Given the description of an element on the screen output the (x, y) to click on. 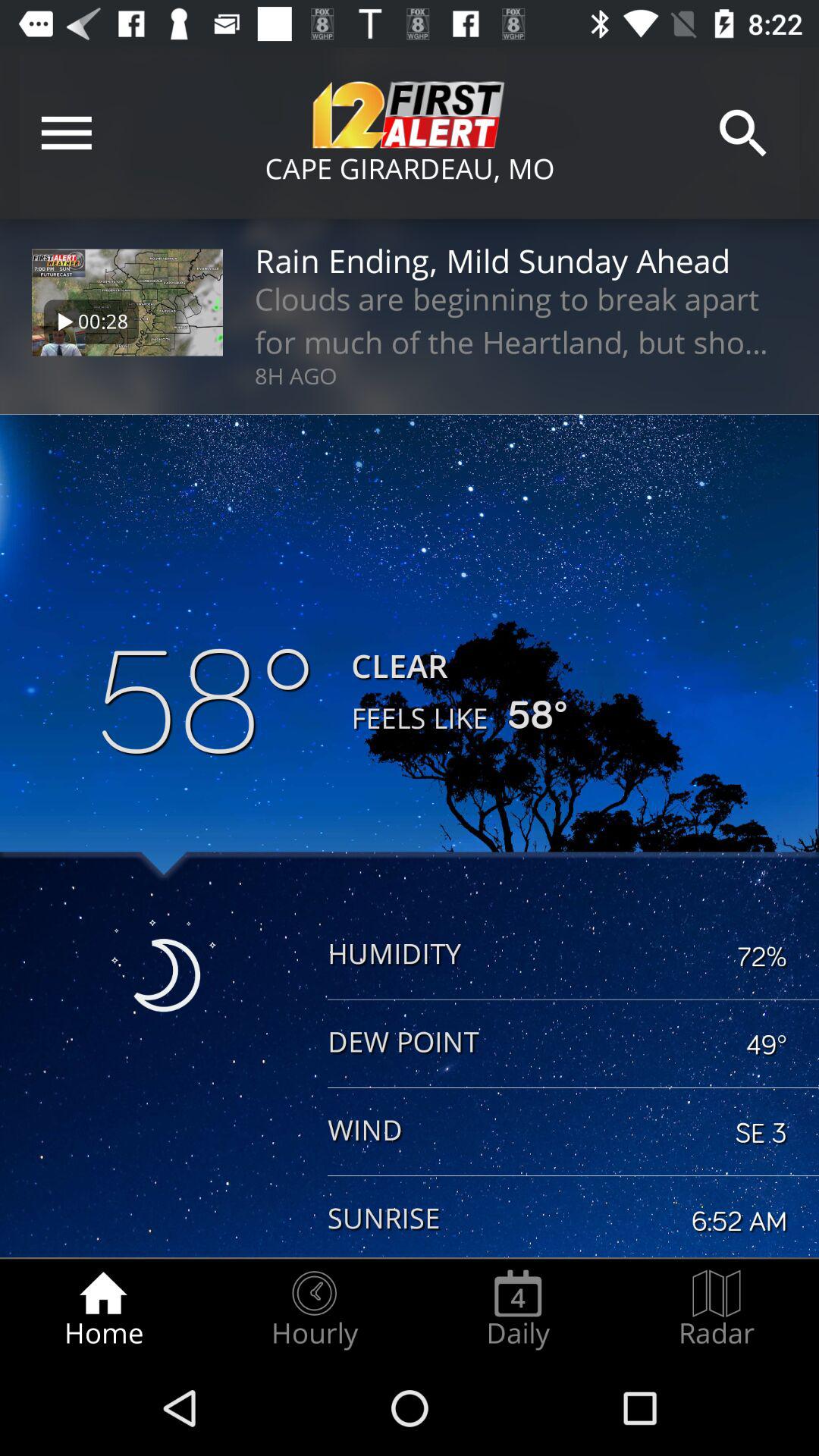
flip to the daily item (518, 1309)
